Given the description of an element on the screen output the (x, y) to click on. 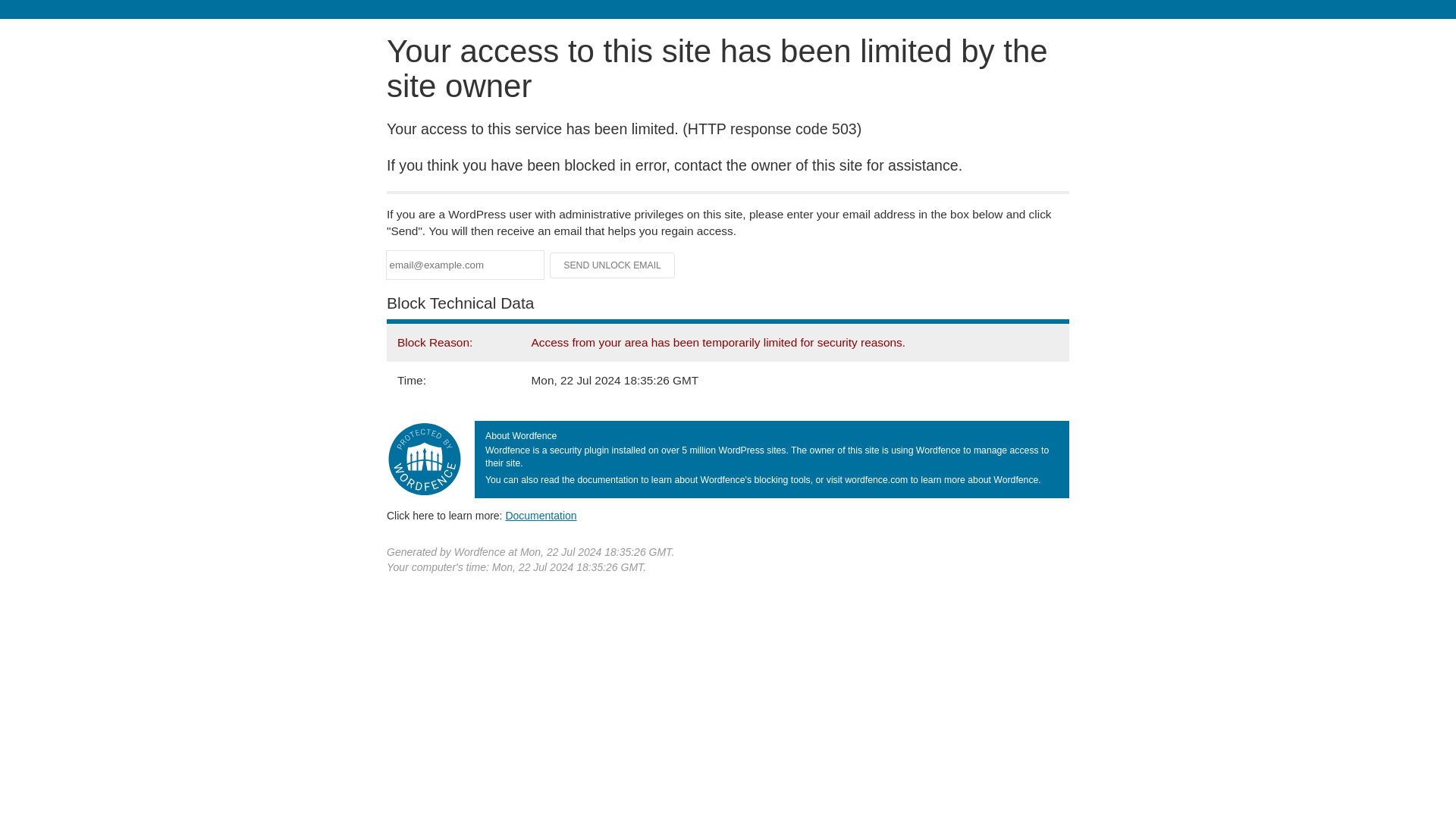
Send Unlock Email (612, 265)
Documentation (540, 515)
Send Unlock Email (612, 265)
